Given the description of an element on the screen output the (x, y) to click on. 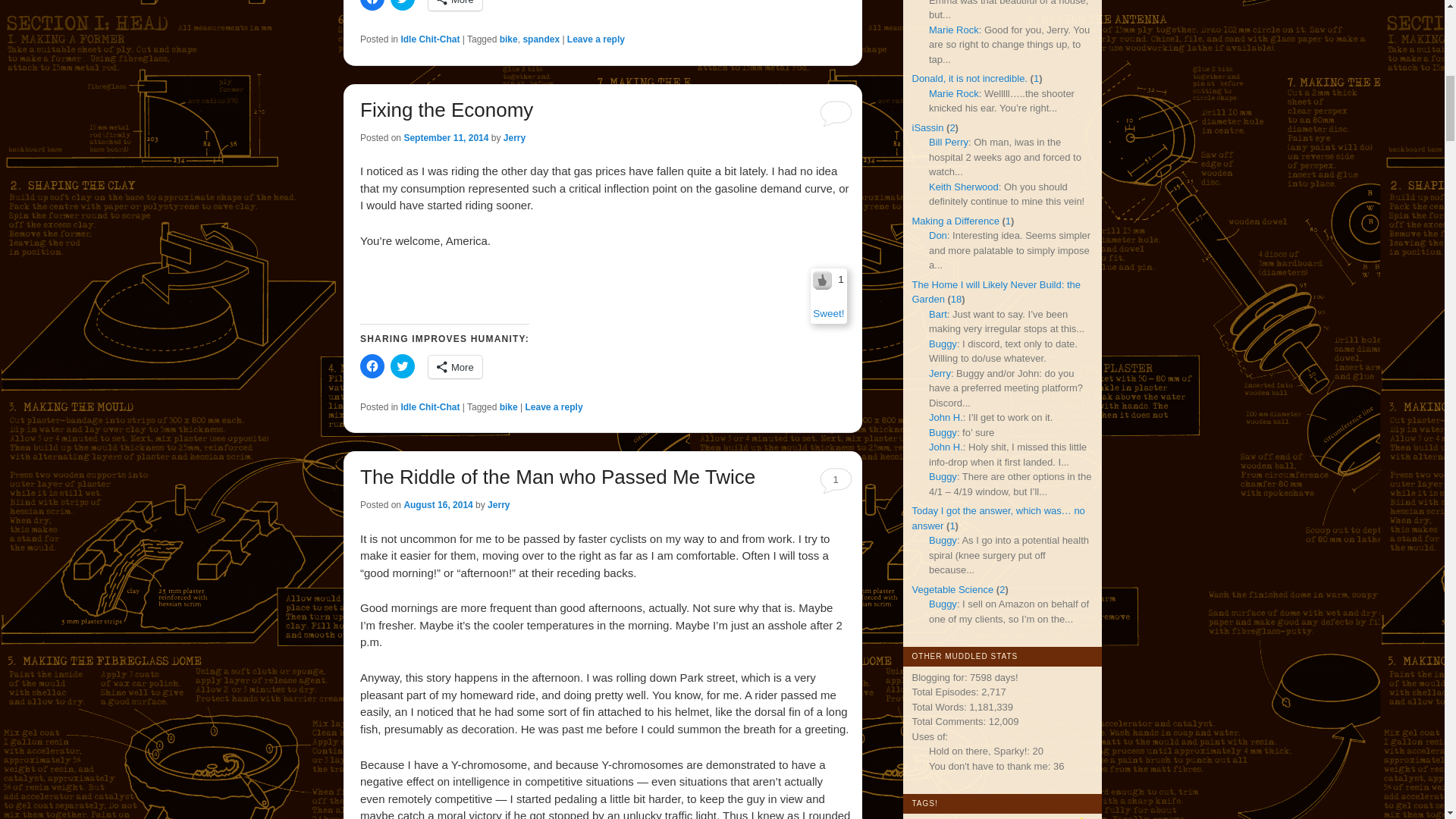
Fixing the Economy (445, 109)
Click to share on Facebook (371, 5)
Click to share on Twitter (402, 365)
spandex (540, 39)
Click to share on Twitter (402, 5)
7:12 pm (445, 137)
Leave a reply (595, 39)
Click to share on Facebook (371, 365)
More (454, 366)
View all posts by Jerry (514, 137)
More (454, 5)
bike (508, 39)
Sweet! (828, 313)
September 11, 2014 (445, 137)
Jerry (514, 137)
